Given the description of an element on the screen output the (x, y) to click on. 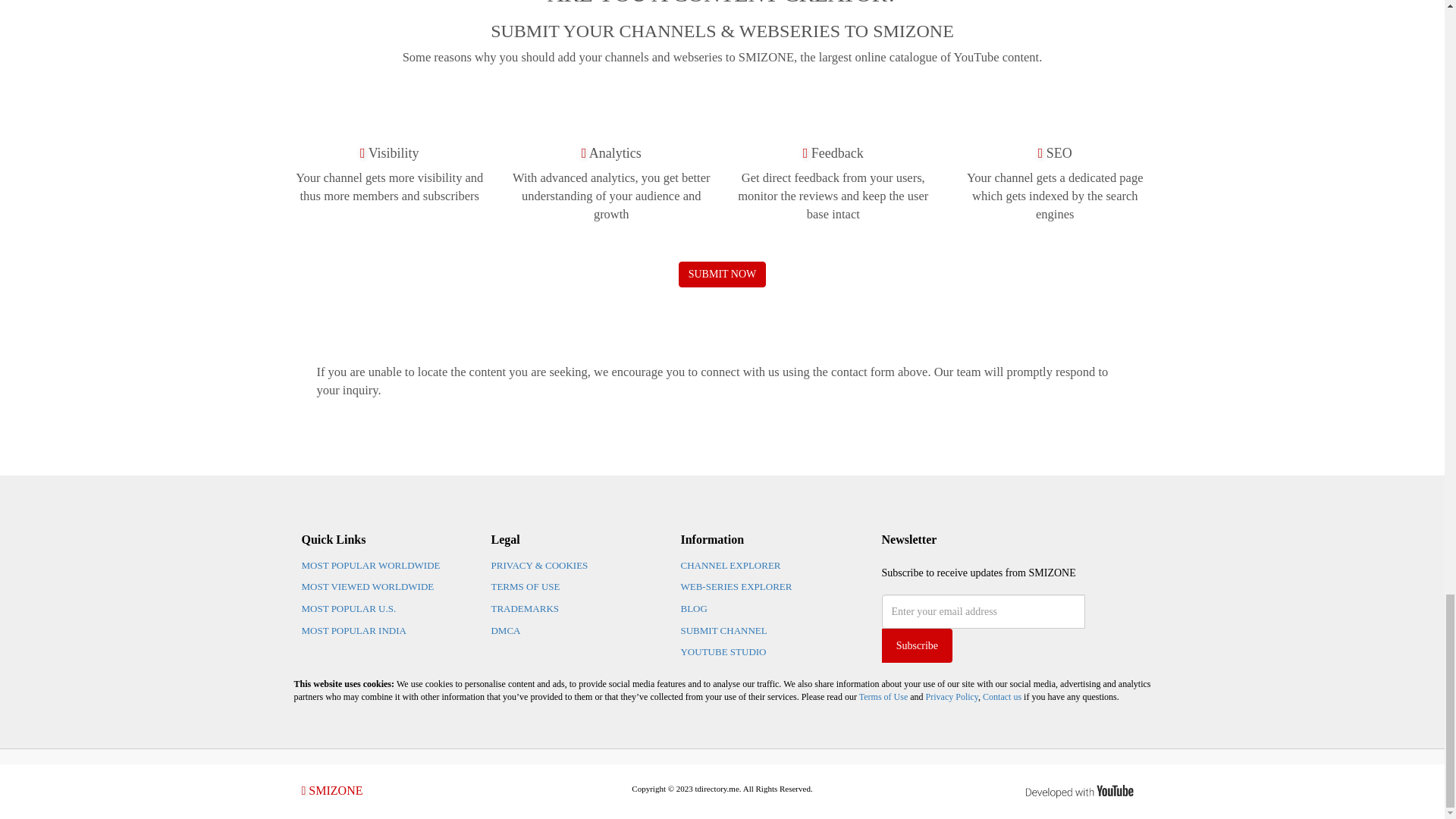
Subscribe (916, 645)
